Given the description of an element on the screen output the (x, y) to click on. 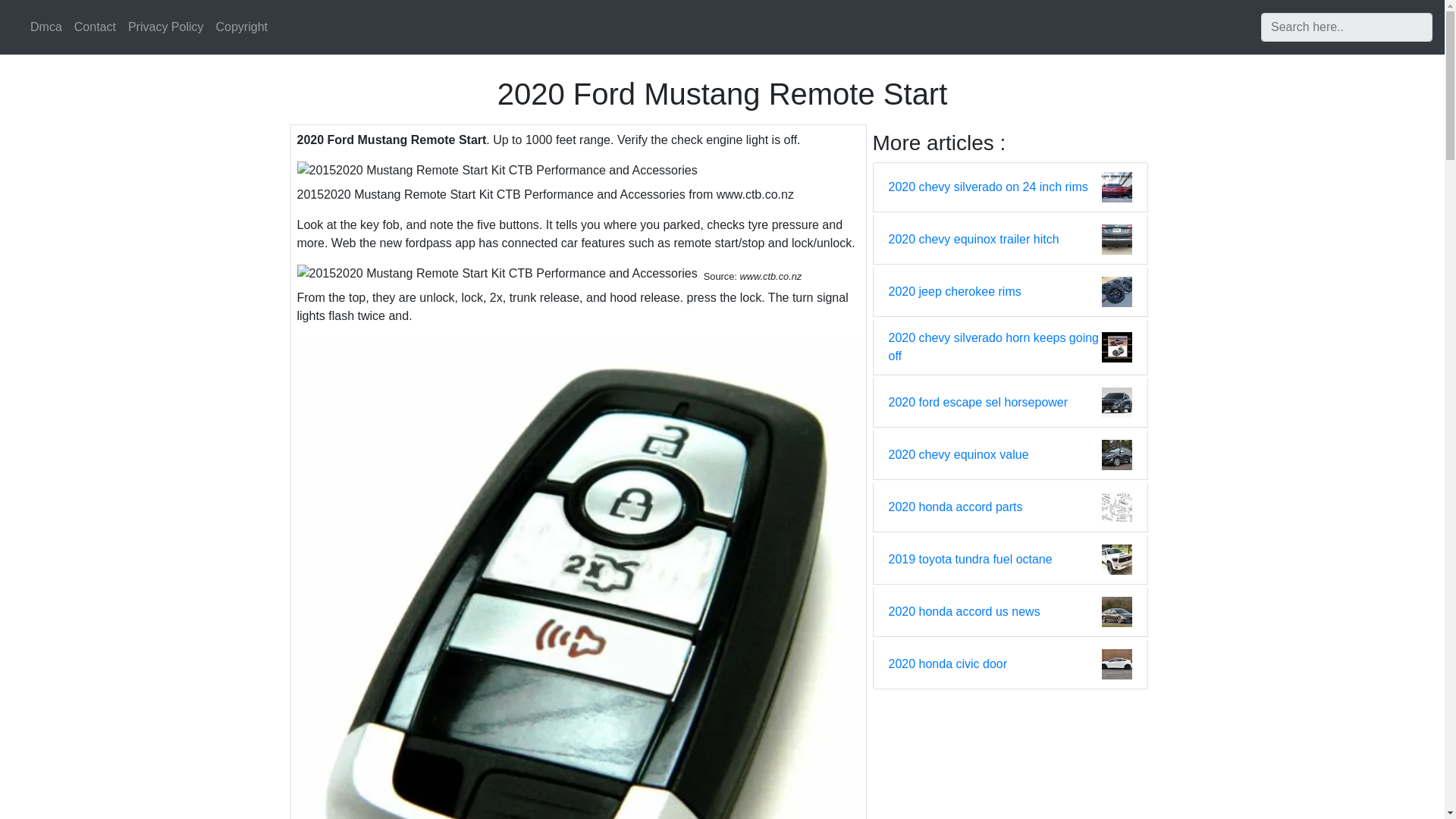
2020 honda accord us news (964, 611)
2020 chevy equinox trailer hitch (973, 239)
Dmca (46, 27)
2020 chevy equinox value (958, 454)
Contact (95, 27)
2020 jeep cherokee rims (955, 291)
Copyright (241, 27)
2020 ford escape sel horsepower (978, 402)
Privacy Policy (165, 27)
2020 honda civic door (947, 664)
